Given the description of an element on the screen output the (x, y) to click on. 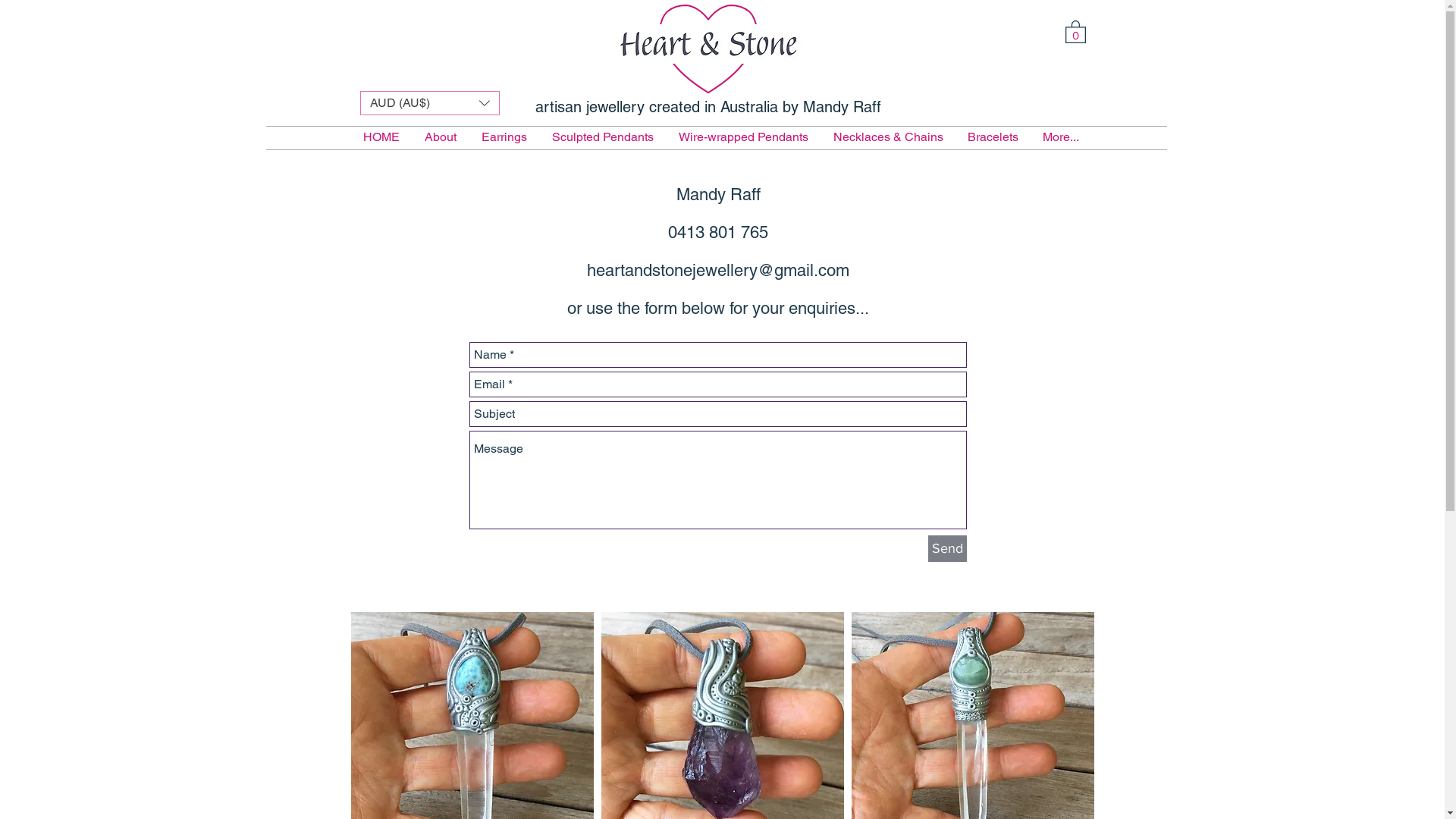
Site Search Element type: hover (1015, 106)
0 Element type: text (1074, 30)
Send Element type: text (947, 548)
Earrings Element type: text (503, 137)
Necklaces & Chains Element type: text (887, 137)
Wire-wrapped Pendants Element type: text (742, 137)
HOME Element type: text (380, 137)
Sculpted Pendants Element type: text (602, 137)
About Element type: text (440, 137)
heartandstonejewellery@gmail.com Element type: text (717, 269)
Bracelets Element type: text (992, 137)
AUD (AU$) Element type: text (428, 103)
0413 801 765 Element type: text (718, 231)
